Given the description of an element on the screen output the (x, y) to click on. 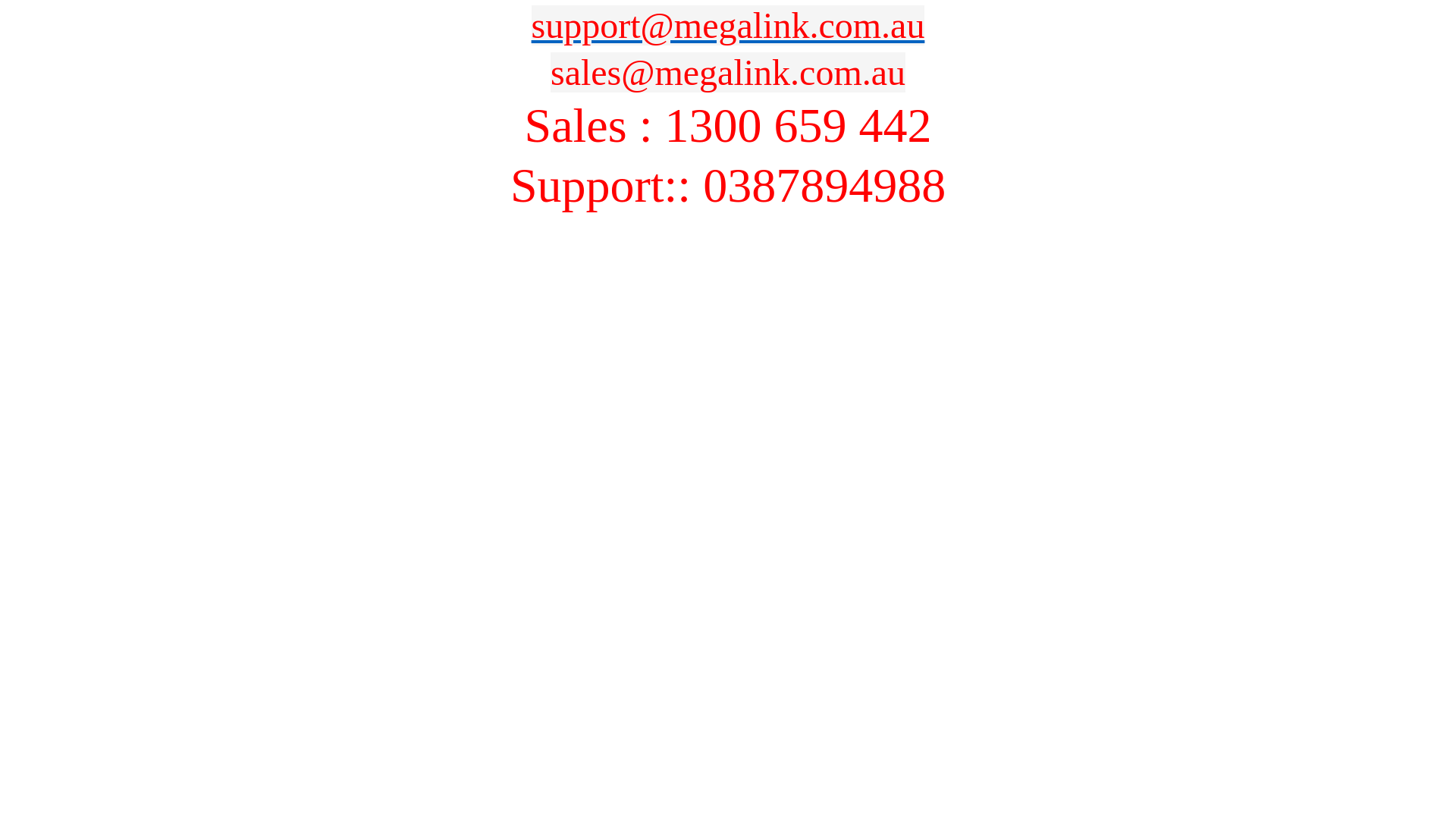
support@megalink.com.au Element type: text (728, 25)
